Given the description of an element on the screen output the (x, y) to click on. 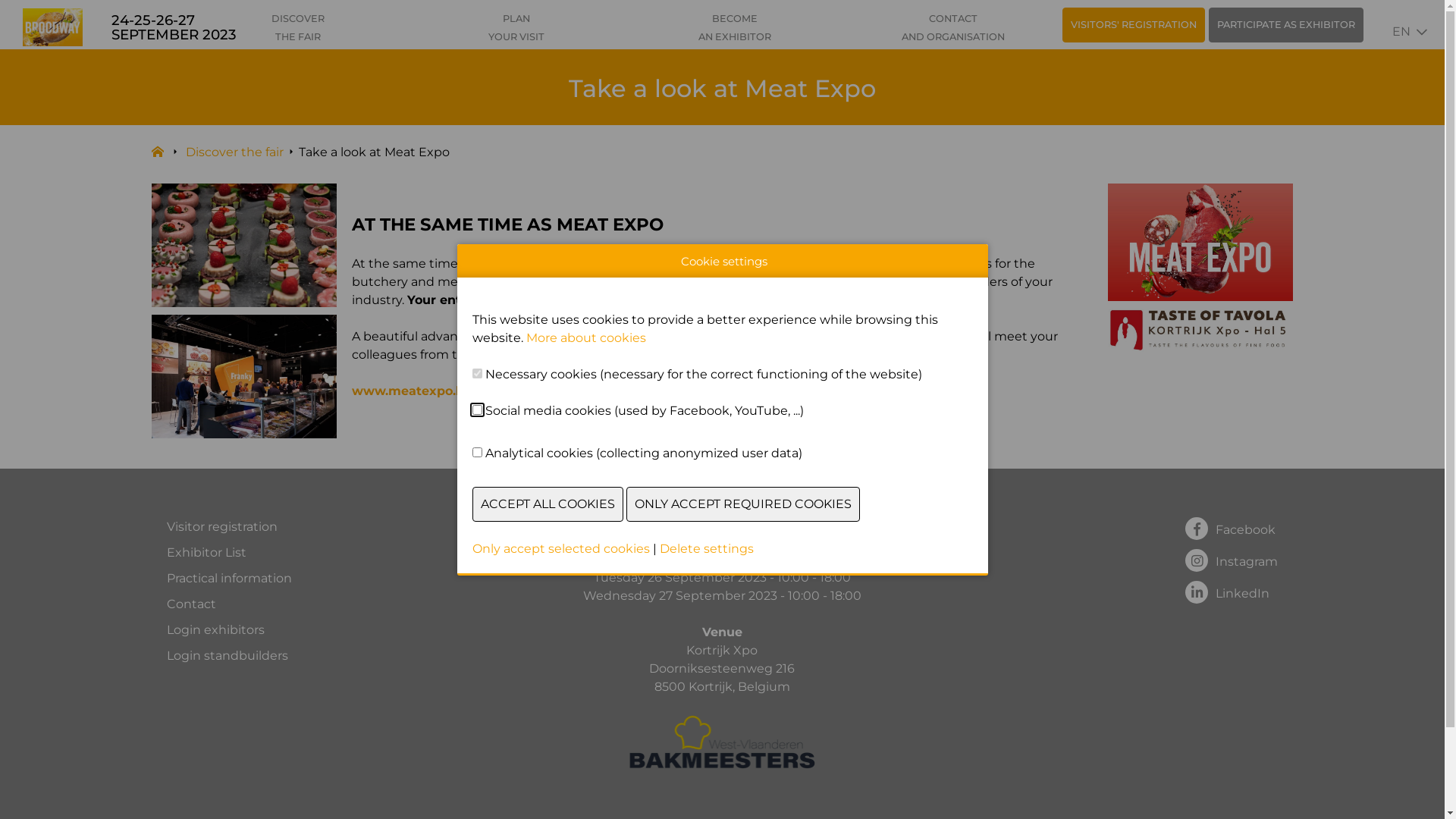
Facebook Element type: text (1231, 527)
Discover the fair Element type: text (234, 151)
LinkedIn Element type: text (1231, 591)
PLAN
YOUR VISIT Element type: text (516, 27)
Only accept selected cookies Element type: text (560, 548)
Exhibitor List Element type: text (228, 552)
Contact Element type: text (228, 604)
Visitor registration Element type: text (228, 526)
More about cookies Element type: text (586, 337)
BECOME
AN EXHIBITOR Element type: text (734, 27)
www.meatexpo.be Element type: text (411, 390)
Only accept required cookies Element type: text (742, 503)
Login exhibitors Element type: text (228, 630)
Practical information Element type: text (228, 578)
DISCOVER
THE FAIR Element type: text (297, 27)
Login standbuilders Element type: text (228, 655)
CONTACT
AND ORGANISATION Element type: text (953, 27)
PARTICIPATE AS EXHIBITOR Element type: text (1285, 24)
VISITORS' REGISTRATION Element type: text (1133, 24)
Instagram Element type: text (1231, 559)
Delete settings Element type: text (706, 548)
Accept all cookies Element type: text (546, 503)
